Given the description of an element on the screen output the (x, y) to click on. 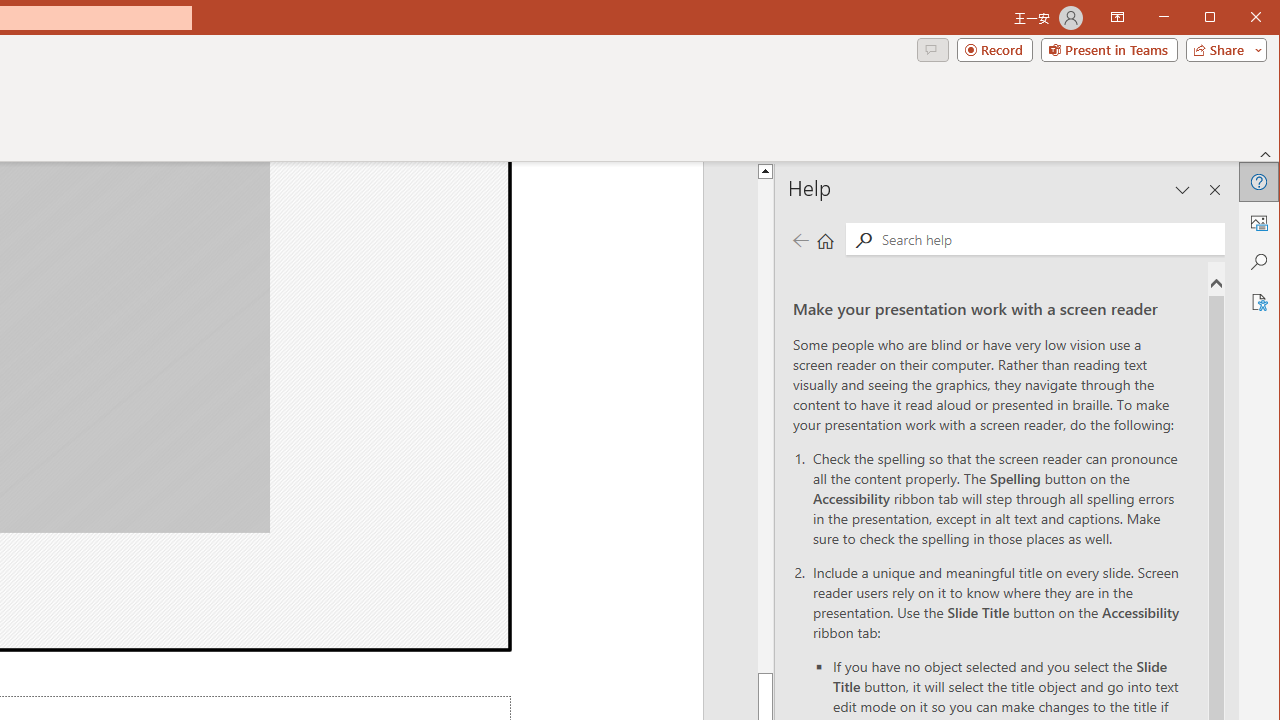
Line up (970, 170)
Page up (970, 426)
Search (1258, 261)
